Given the description of an element on the screen output the (x, y) to click on. 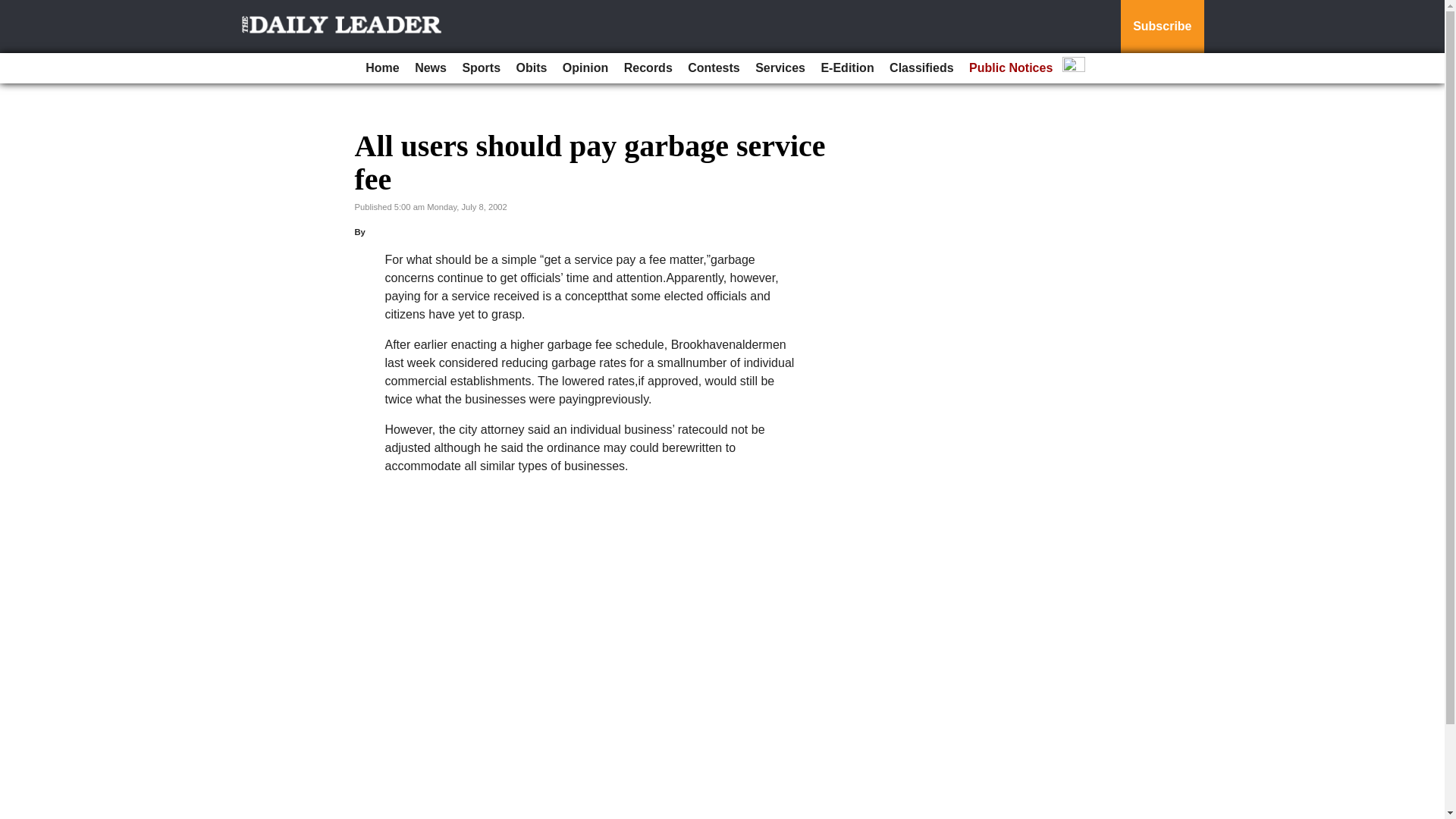
E-Edition (846, 68)
Classifieds (921, 68)
Records (647, 68)
Public Notices (1010, 68)
Subscribe (1162, 26)
News (430, 68)
Services (779, 68)
Home (381, 68)
Obits (532, 68)
Sports (480, 68)
Opinion (585, 68)
Go (13, 9)
Contests (713, 68)
